Given the description of an element on the screen output the (x, y) to click on. 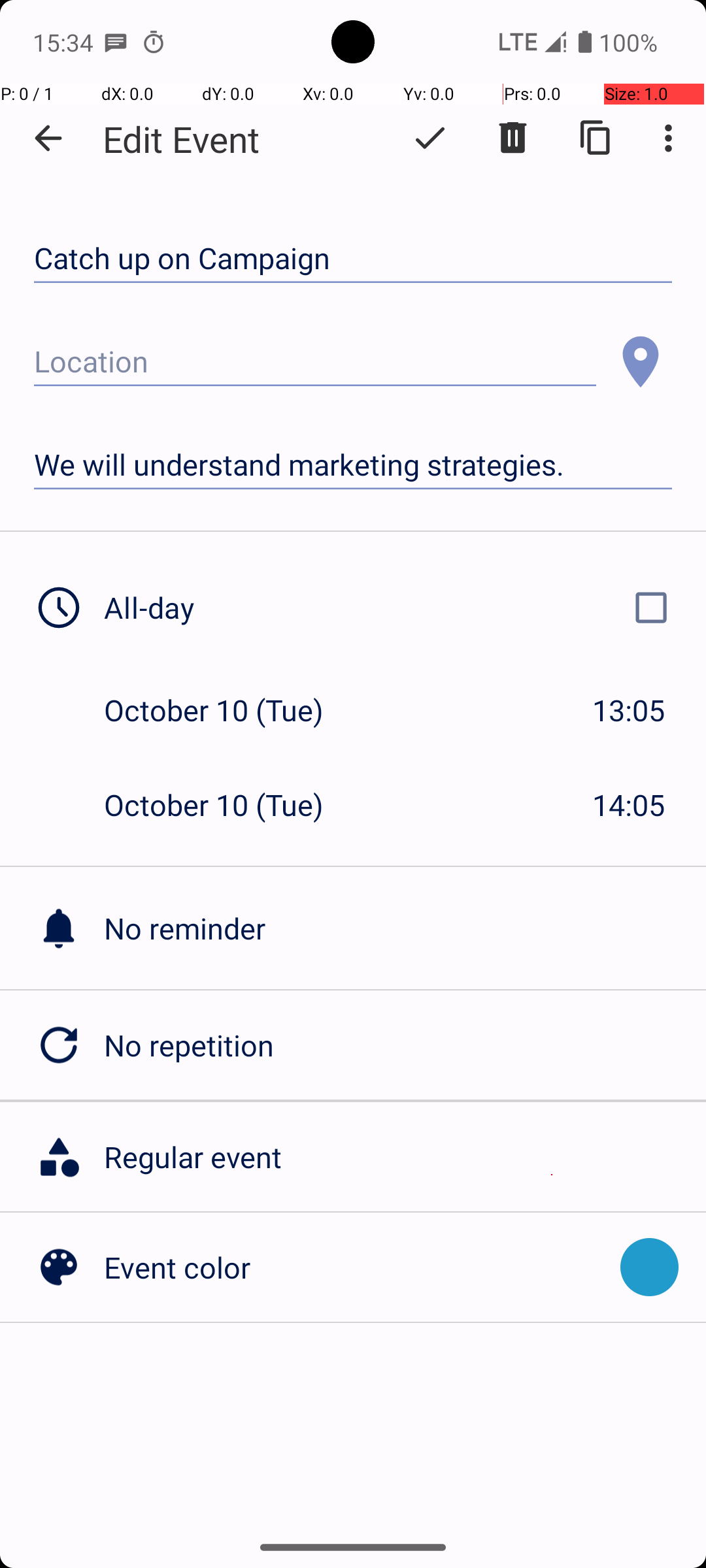
We will understand marketing strategies. Element type: android.widget.EditText (352, 465)
October 10 (Tue) Element type: android.widget.TextView (227, 709)
13:05 Element type: android.widget.TextView (628, 709)
14:05 Element type: android.widget.TextView (628, 804)
